Given the description of an element on the screen output the (x, y) to click on. 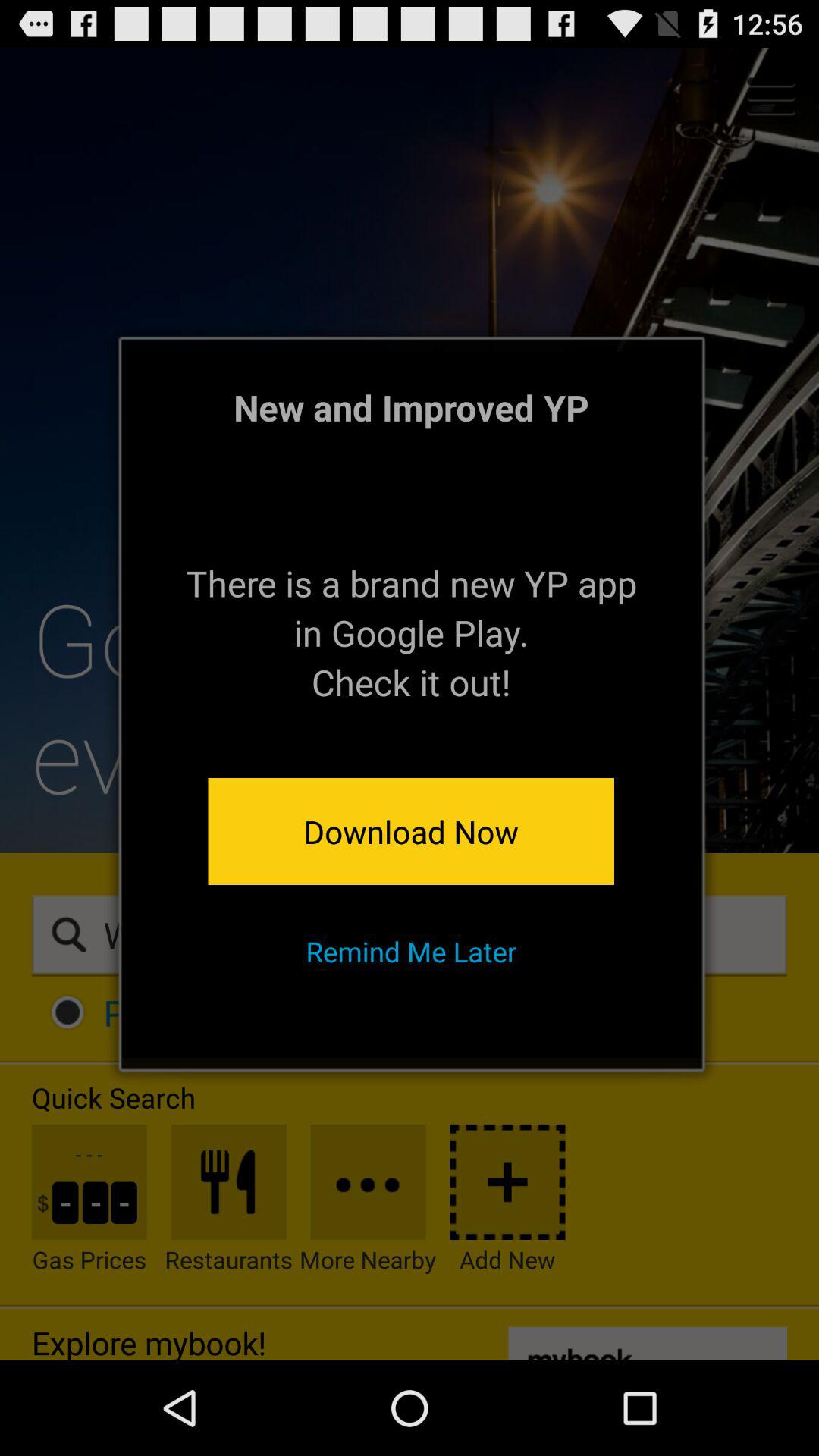
open app above remind me later app (411, 831)
